Given the description of an element on the screen output the (x, y) to click on. 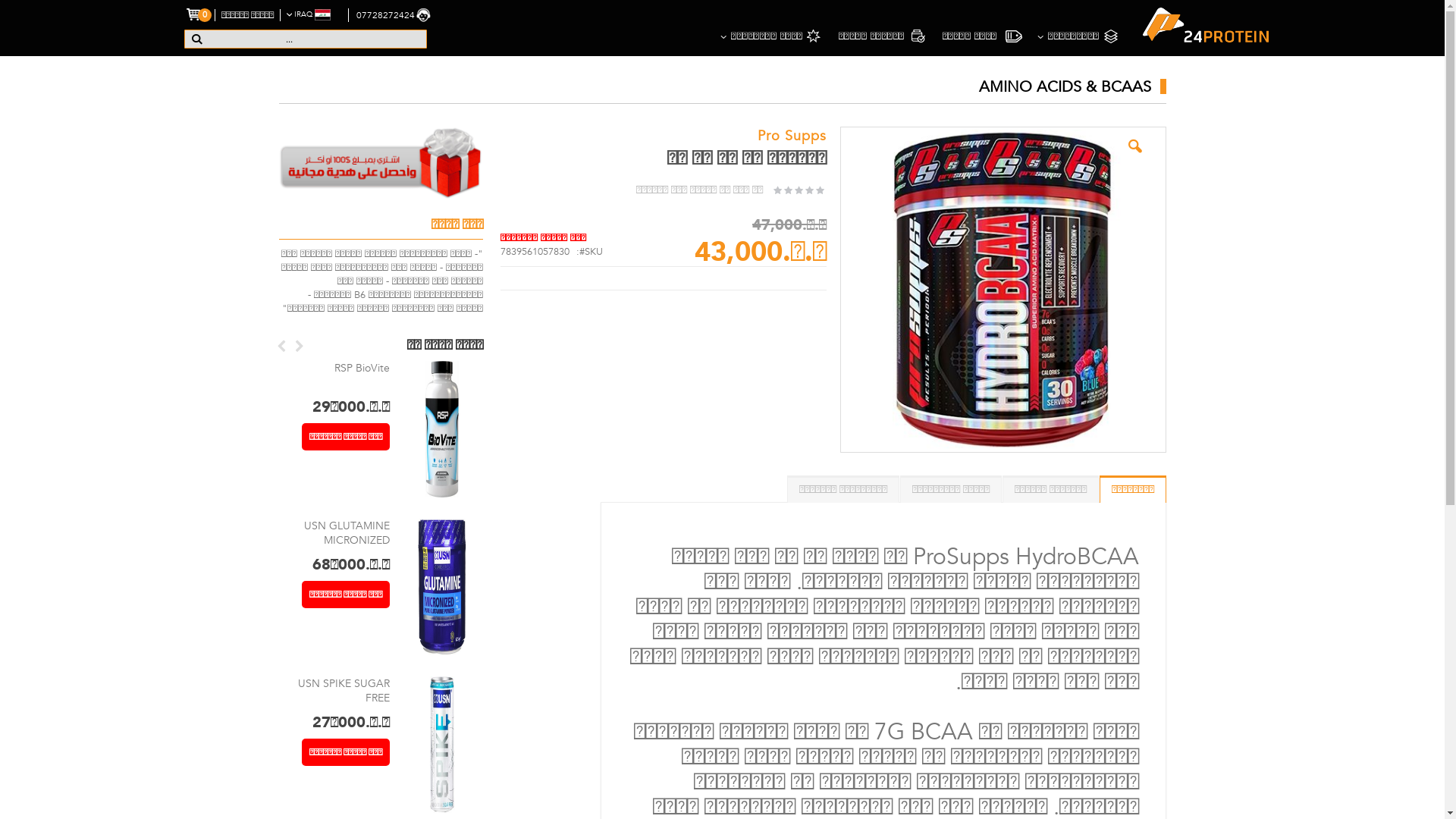
USN SPIKE SUGAR FREE Element type: text (343, 691)
USN GLUTAMINE MICRONIZED Element type: text (346, 533)
RSP BioVite Element type: text (361, 367)
Pro Supps Element type: text (791, 135)
